Given the description of an element on the screen output the (x, y) to click on. 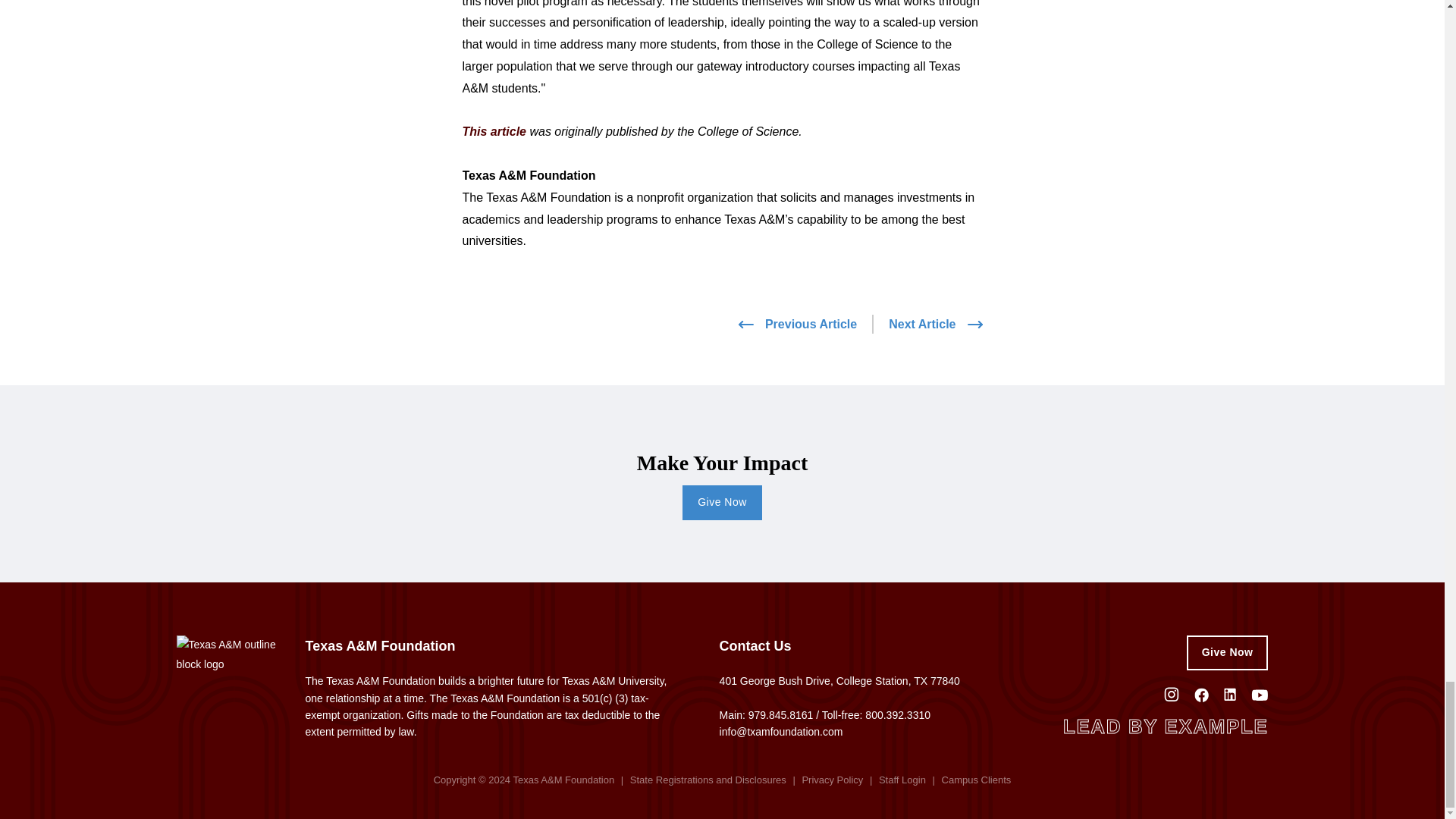
This article (494, 131)
